Given the description of an element on the screen output the (x, y) to click on. 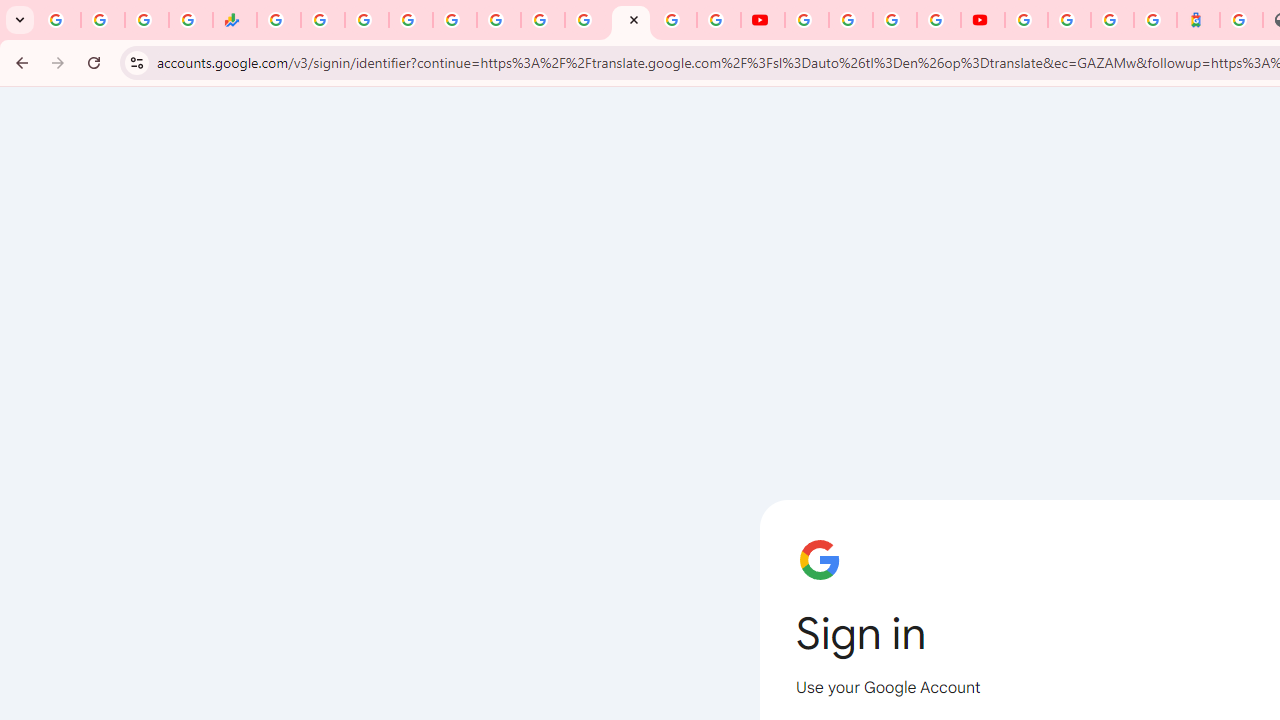
Content Creator Programs & Opportunities - YouTube Creators (982, 20)
Android TV Policies and Guidelines - Transparency Center (542, 20)
Atour Hotel - Google hotels (1197, 20)
Sign in - Google Accounts (1069, 20)
Create your Google Account (894, 20)
